Given the description of an element on the screen output the (x, y) to click on. 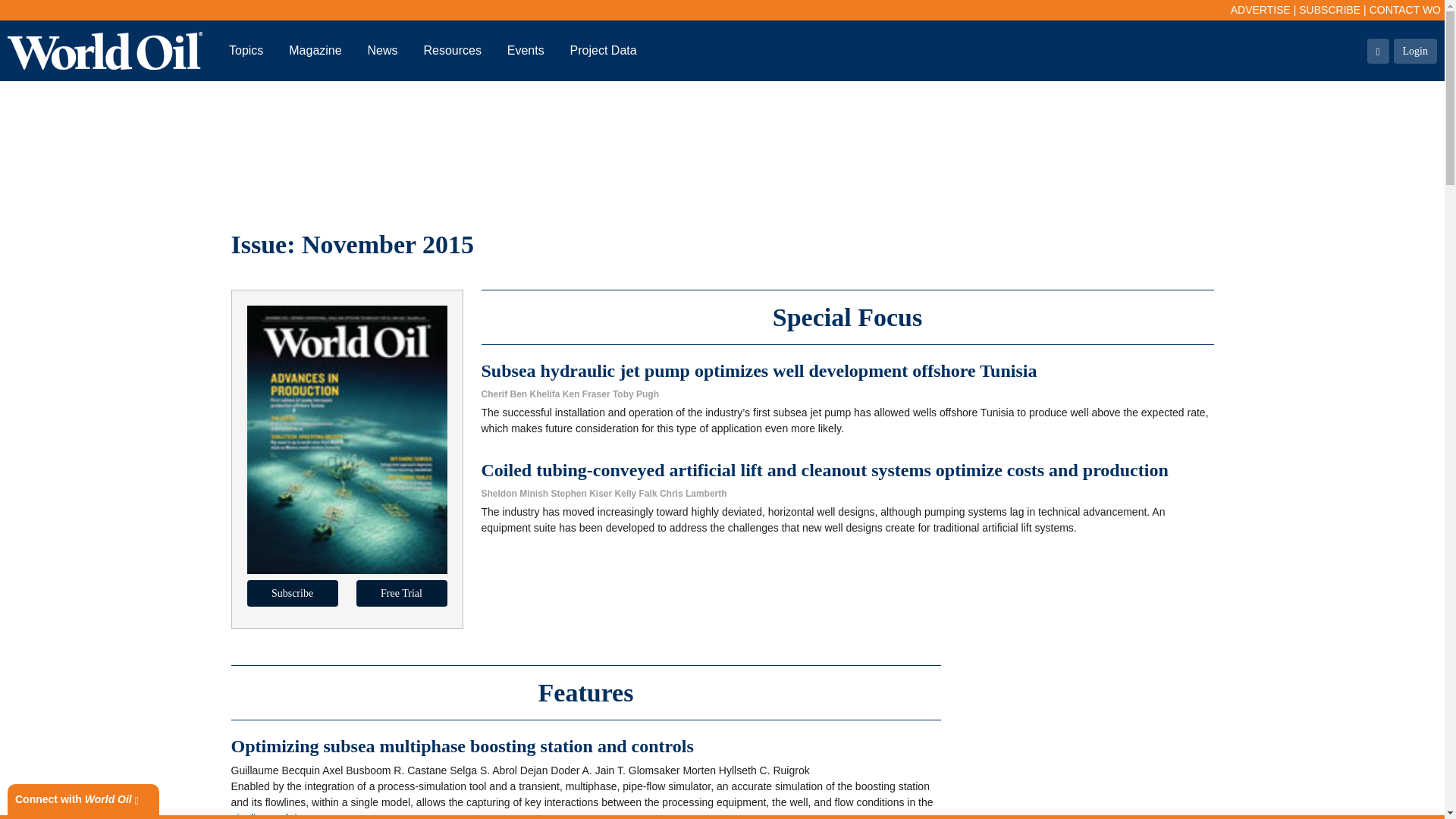
CONTACT WO (1405, 9)
ADVERTISE (1260, 9)
SUBSCRIBE (1328, 9)
3rd party ad content (721, 151)
Topics (245, 50)
